Given the description of an element on the screen output the (x, y) to click on. 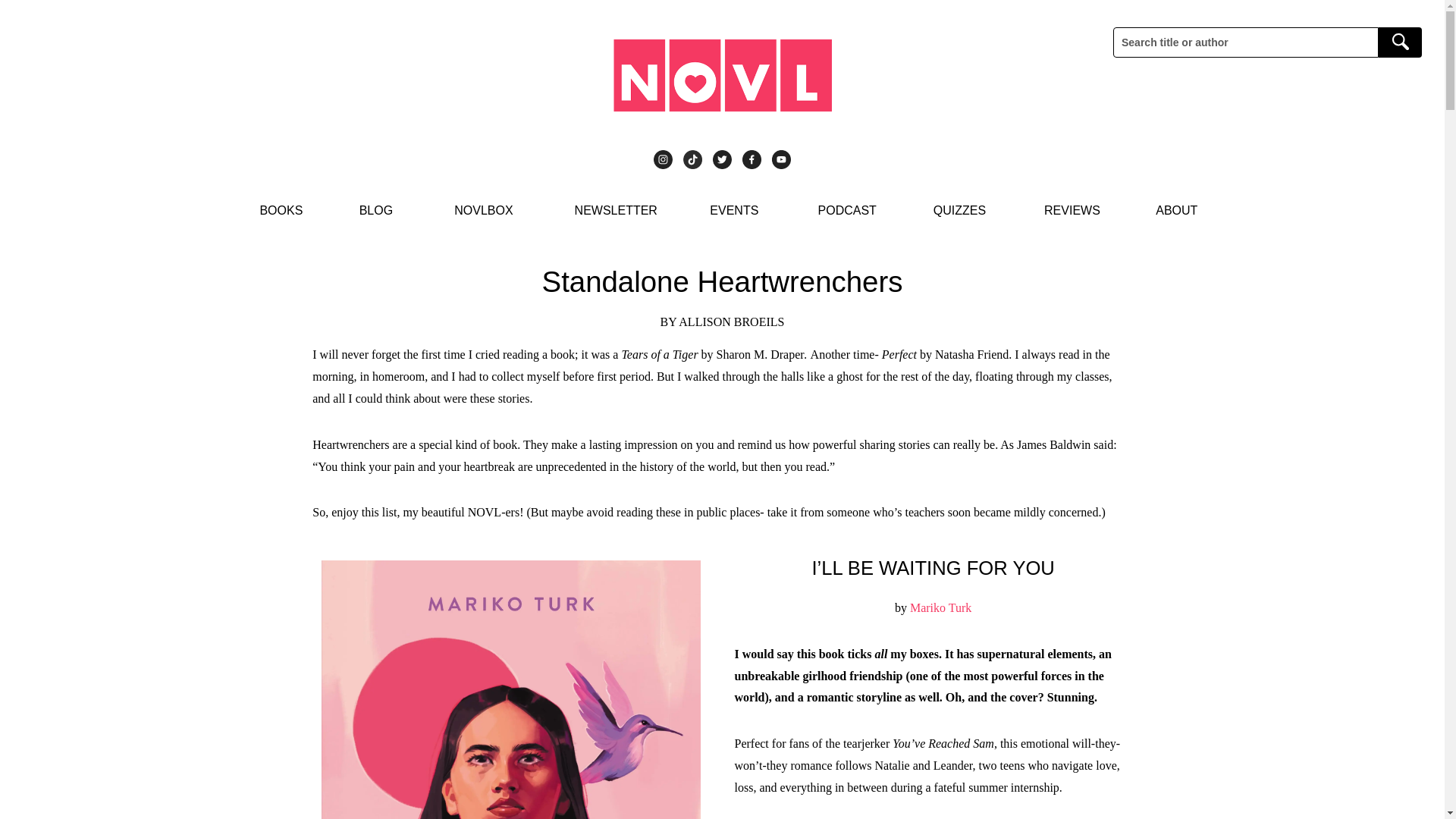
PODCAST (847, 210)
EVENTS (734, 210)
QUIZZES (959, 210)
Mariko Turk (940, 607)
Follow NOVL on TikTok (691, 158)
NEWSLETTER (616, 210)
Follow NOVL on YouTube (780, 158)
NOVLBOX (483, 210)
Follow NOVL on Twitter (722, 158)
ABOUT (1176, 210)
Follow NOVL on Facebook (751, 158)
REVIEWS (1071, 210)
Follow NOVL on Instagram (662, 158)
BOOKS (280, 210)
BLOG (376, 210)
